Given the description of an element on the screen output the (x, y) to click on. 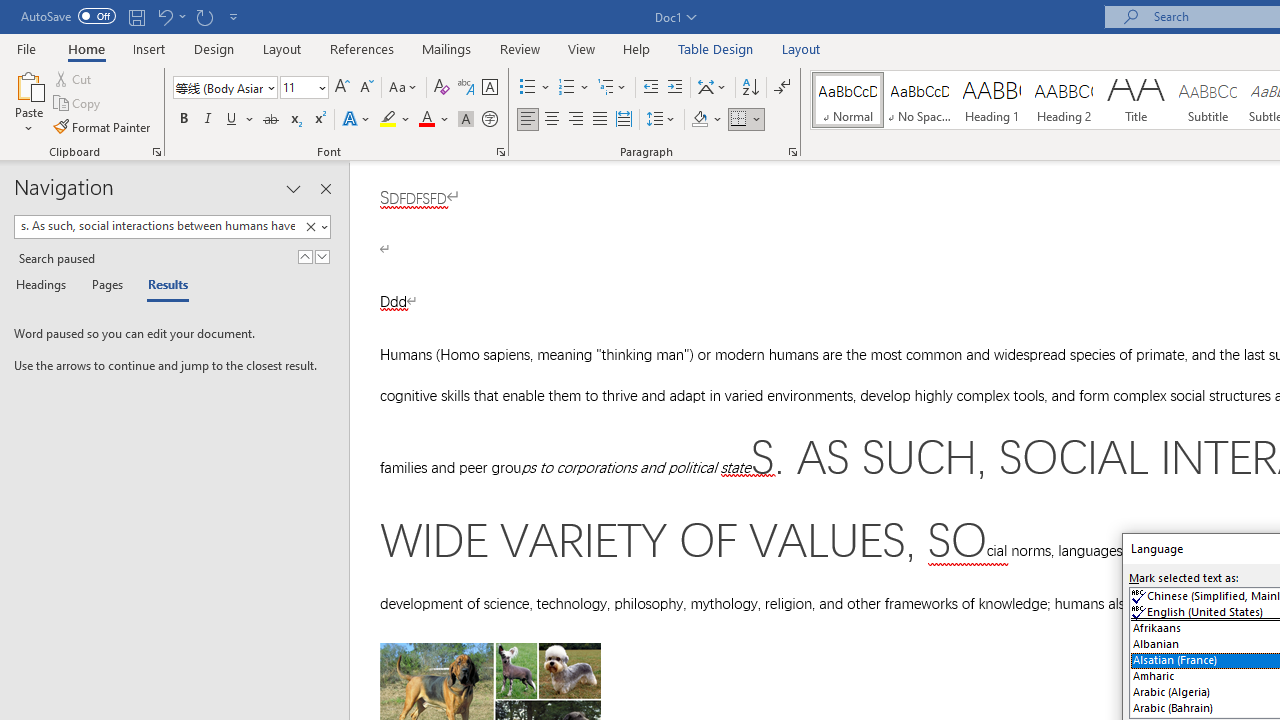
Customize Quick Access Toolbar (234, 15)
Table Design (715, 48)
Bullets (527, 87)
Results (161, 285)
Line and Paragraph Spacing (661, 119)
Center (552, 119)
Font Color (434, 119)
Distributed (623, 119)
Increase Indent (675, 87)
Help (637, 48)
Font Size (304, 87)
Text Effects and Typography (357, 119)
Repeat Style (204, 15)
Align Left (527, 119)
